Given the description of an element on the screen output the (x, y) to click on. 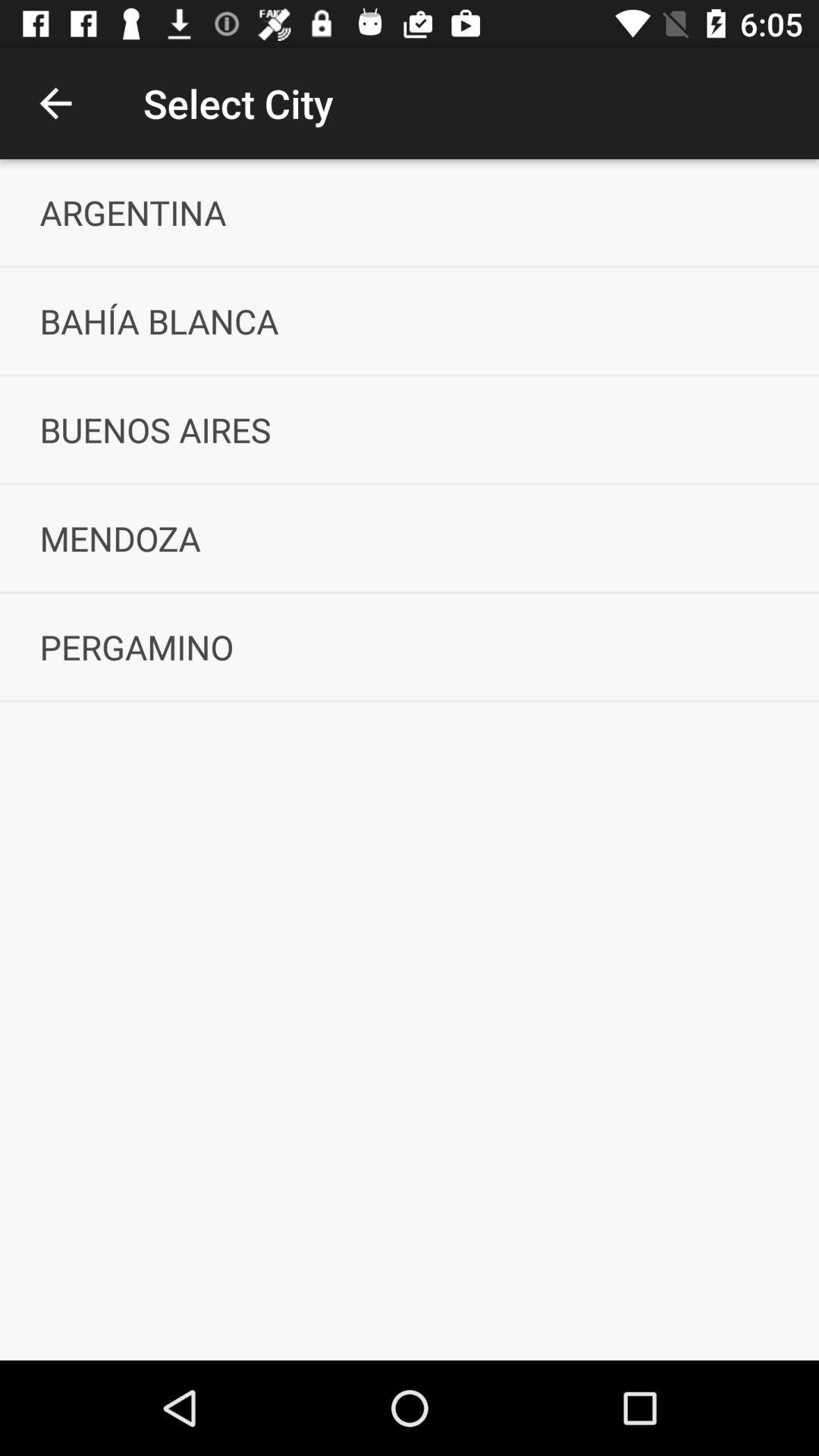
tap icon above buenos aires icon (409, 320)
